Given the description of an element on the screen output the (x, y) to click on. 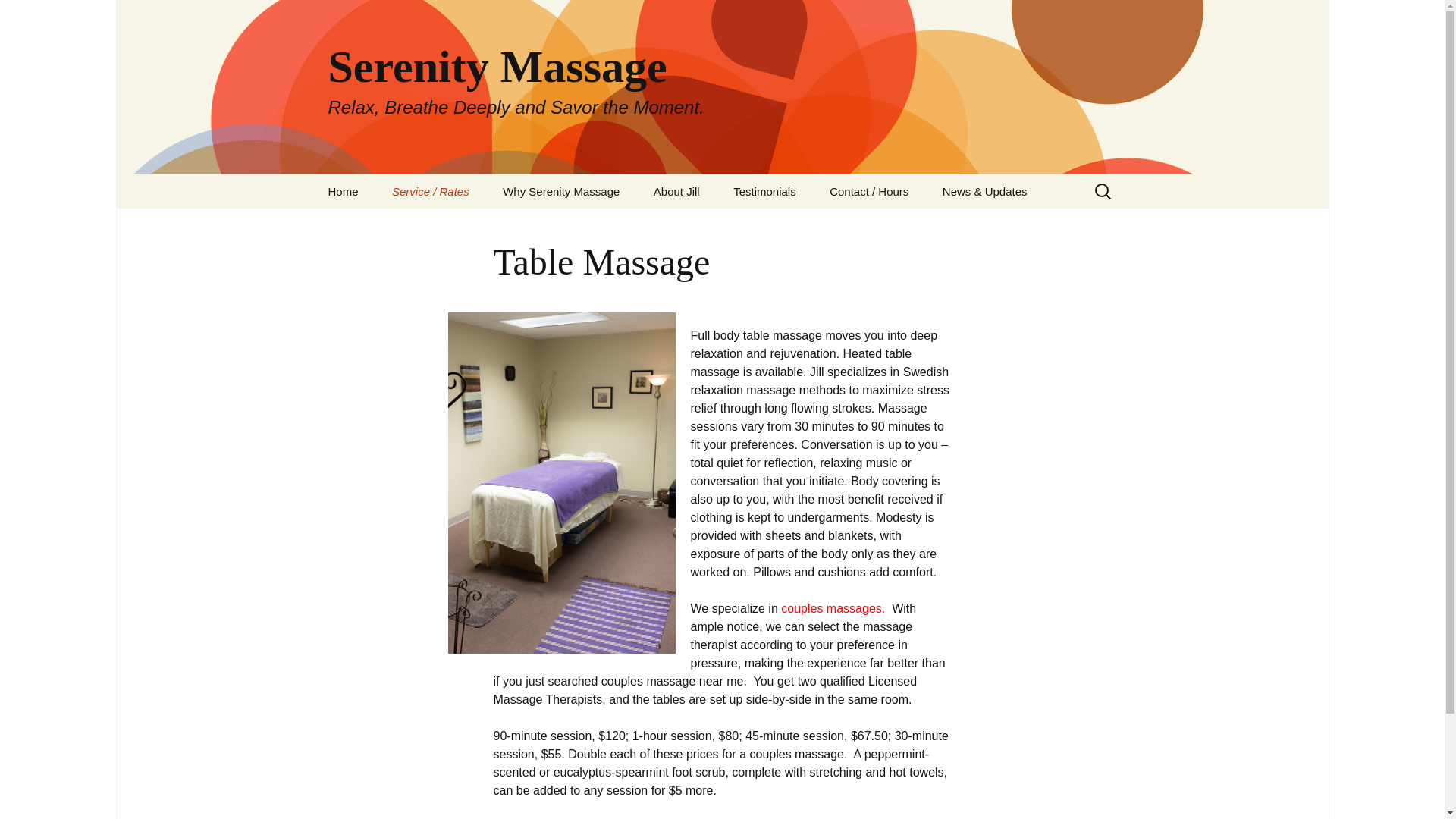
Testimonials (763, 191)
Search (18, 15)
Table Massage (452, 225)
Why Serenity Massage (560, 191)
Home (676, 191)
